Given the description of an element on the screen output the (x, y) to click on. 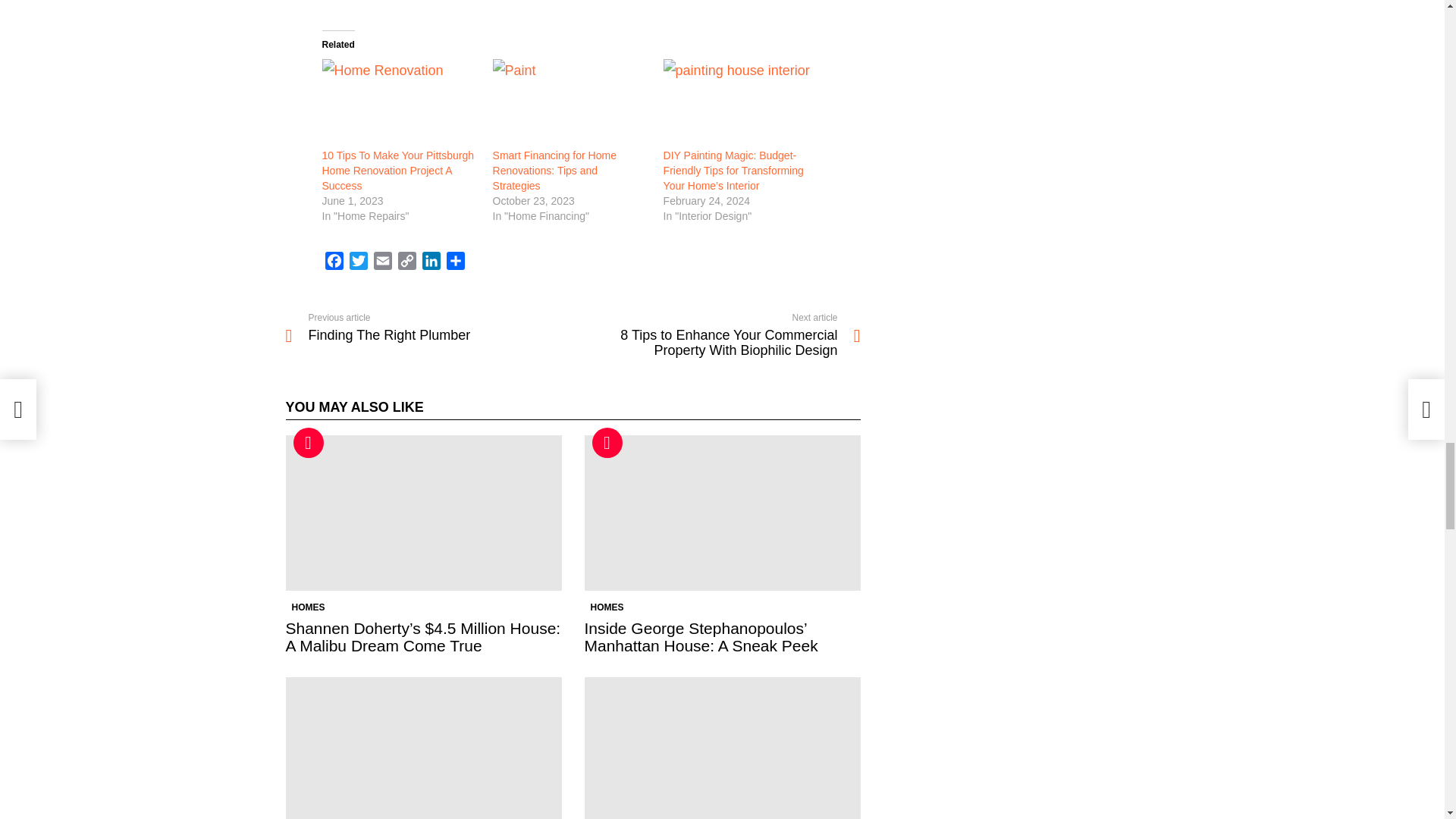
Smart Financing for Home Renovations: Tips and Strategies (554, 170)
Smart Financing for Home Renovations: Tips and Strategies (554, 170)
Facebook (333, 263)
Copy Link (406, 263)
LinkedIn (430, 263)
Copy Link (406, 263)
Hot (606, 442)
Email (381, 263)
Email (381, 263)
Facebook (333, 263)
